Given the description of an element on the screen output the (x, y) to click on. 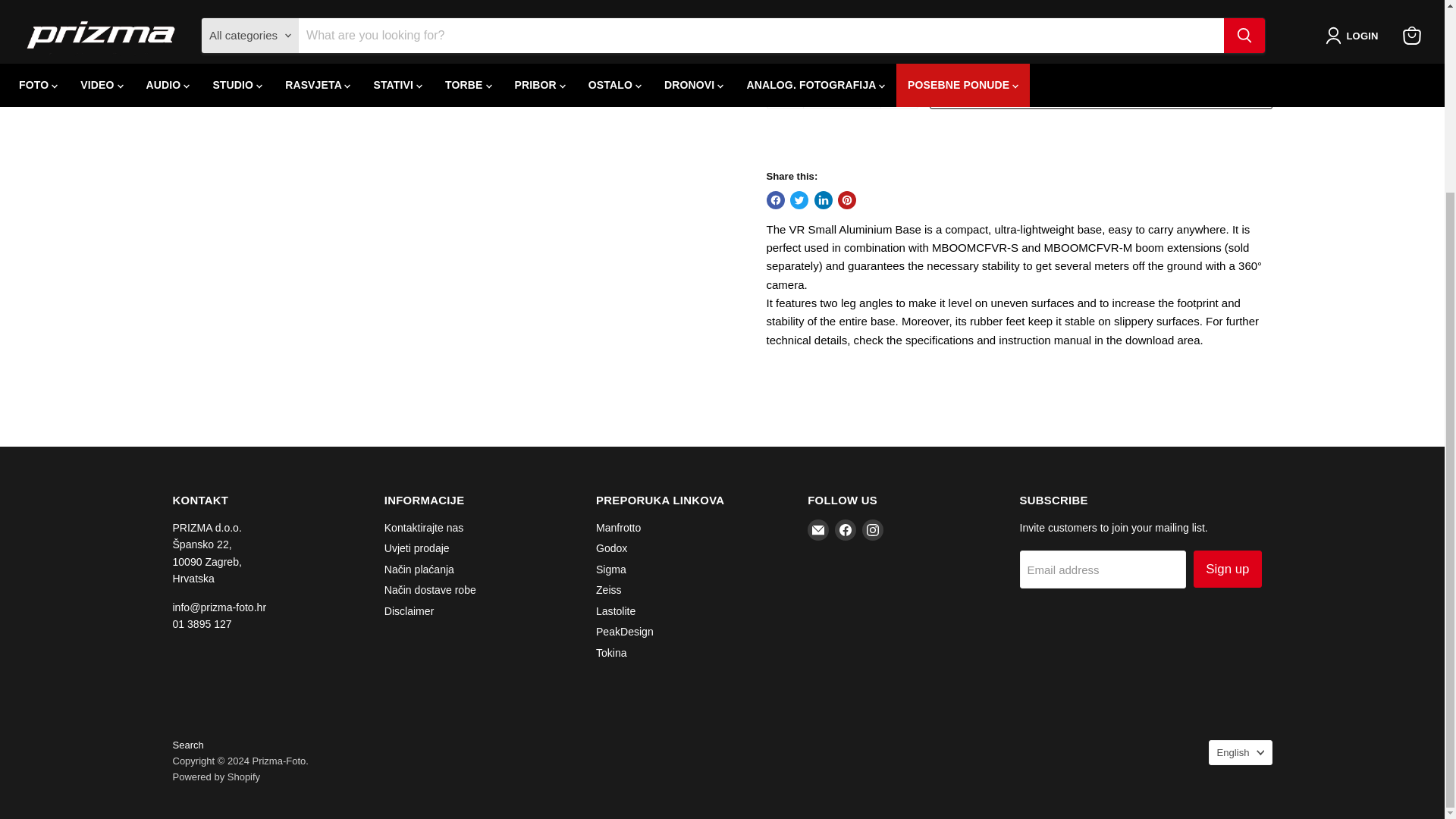
Facebook (845, 529)
1 (841, 89)
Instagram (872, 529)
Manfrotto (805, 2)
Email (818, 529)
